Given the description of an element on the screen output the (x, y) to click on. 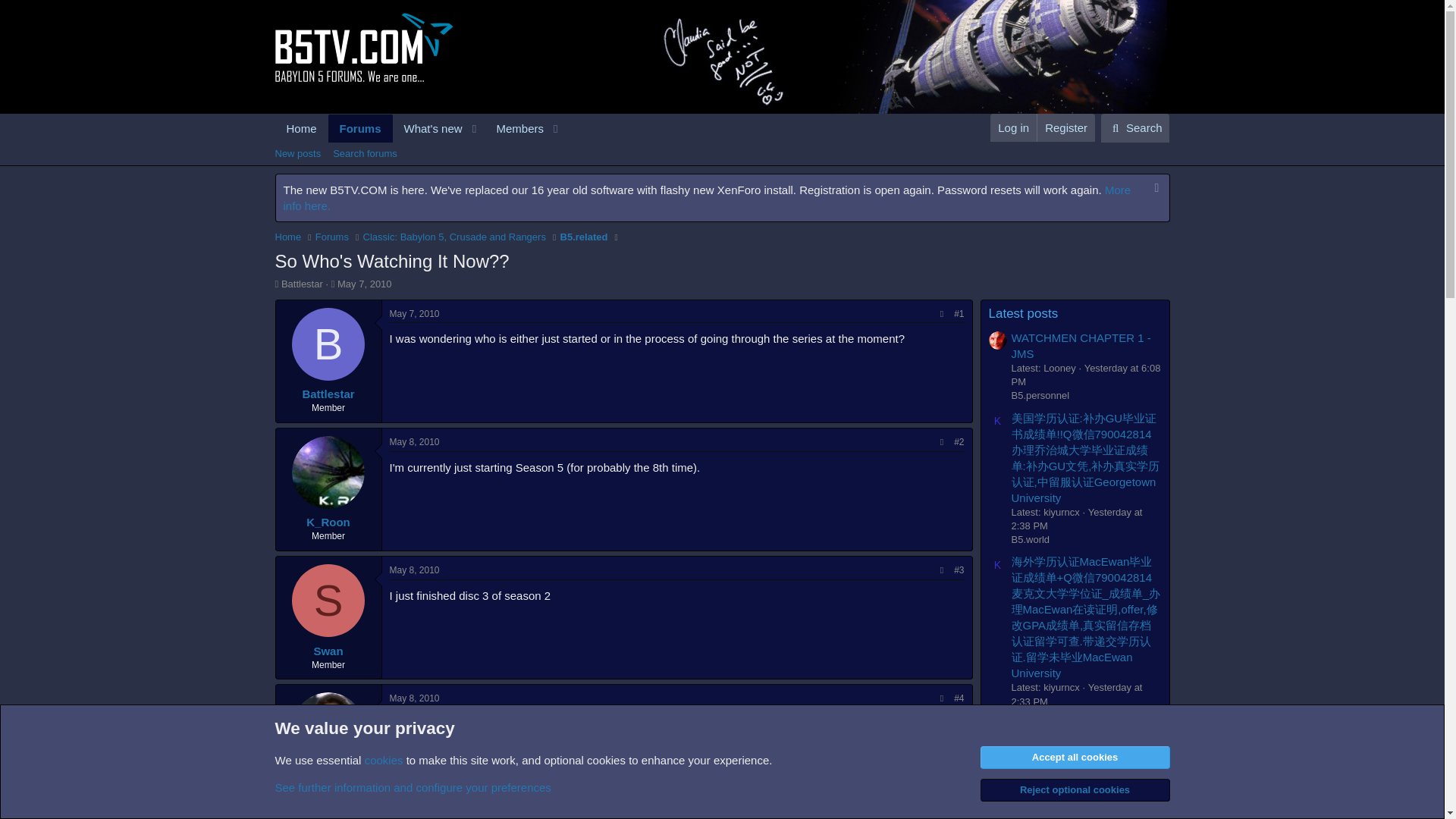
May 7, 2010 at 4:49 PM (364, 283)
May 8, 2010 at 4:27 AM (414, 697)
Home (301, 128)
Search forums (364, 153)
New posts (296, 153)
May 8, 2010 at 2:48 AM (414, 441)
More info here. (707, 197)
Battlestar (327, 393)
May 7, 2010 (364, 283)
Forums (332, 237)
Search (1135, 127)
B (328, 343)
Register (720, 170)
Members (1065, 127)
